Given the description of an element on the screen output the (x, y) to click on. 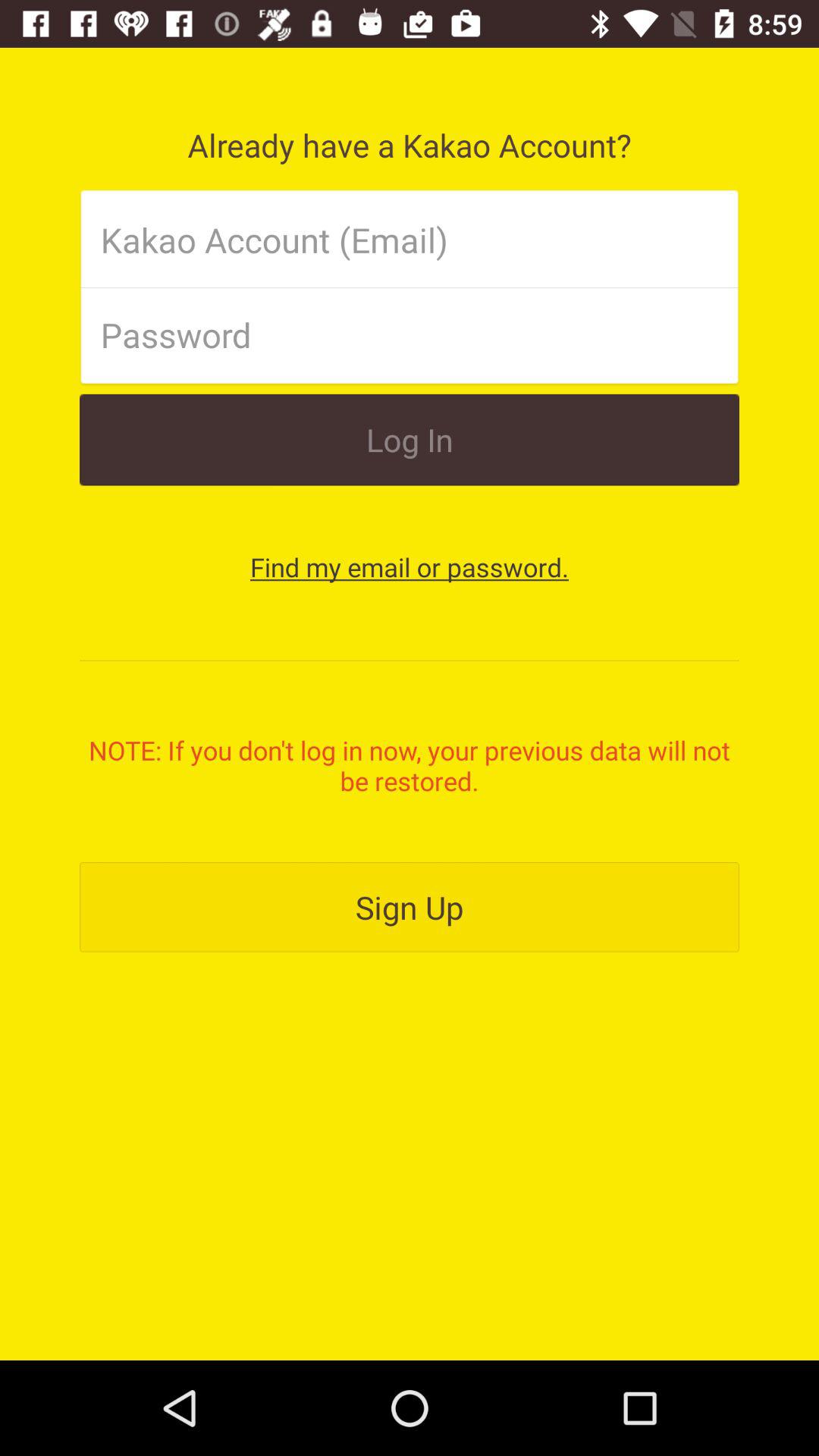
enter password spece (384, 334)
